Given the description of an element on the screen output the (x, y) to click on. 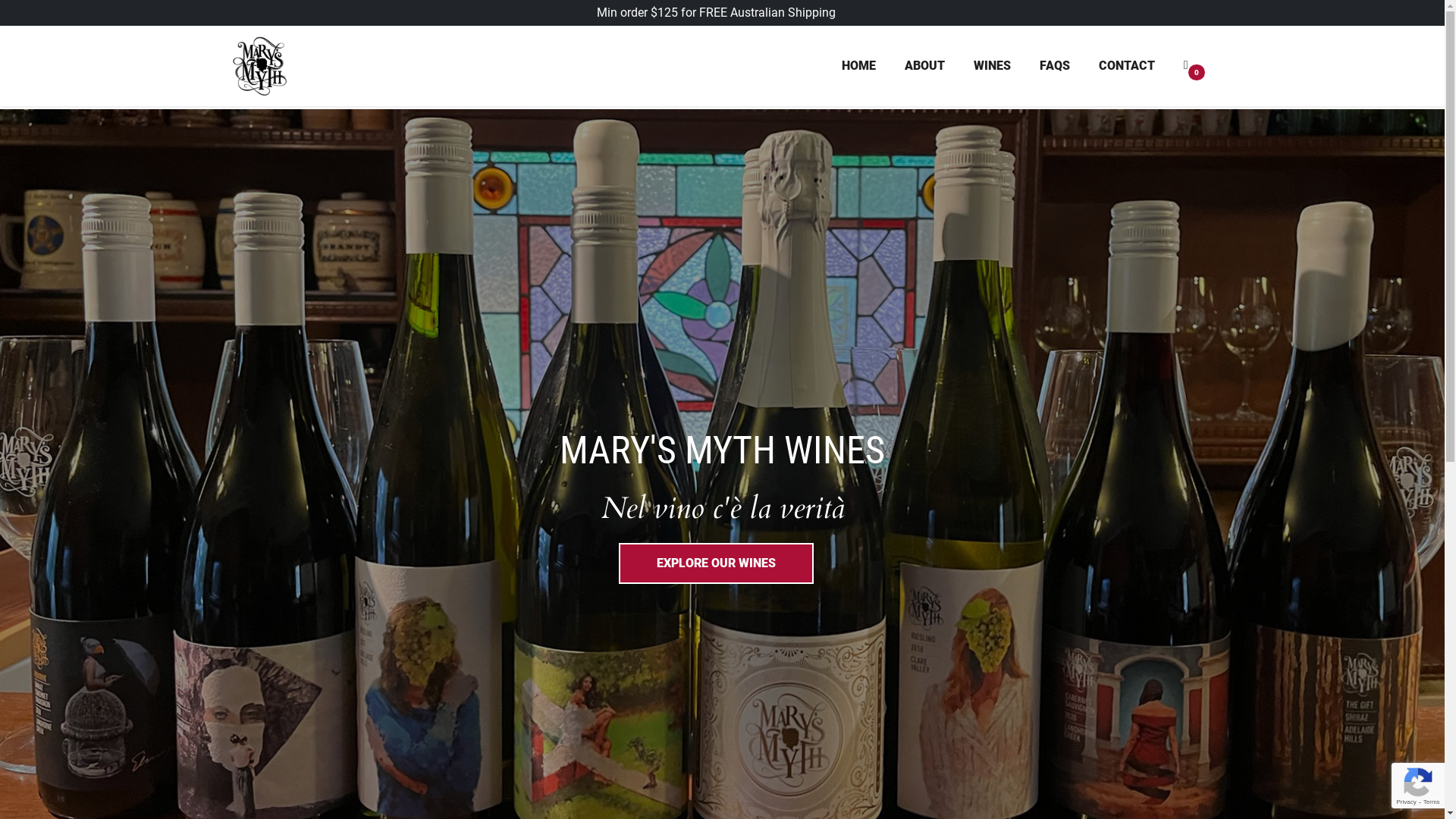
0 Element type: text (1195, 65)
Mary's Myth Wines Element type: hover (258, 65)
EXPLORE OUR WINES Element type: text (715, 562)
FAQS Element type: text (1054, 65)
HOME Element type: text (858, 65)
CONTACT Element type: text (1126, 65)
WINES Element type: text (991, 65)
ABOUT Element type: text (924, 65)
